Given the description of an element on the screen output the (x, y) to click on. 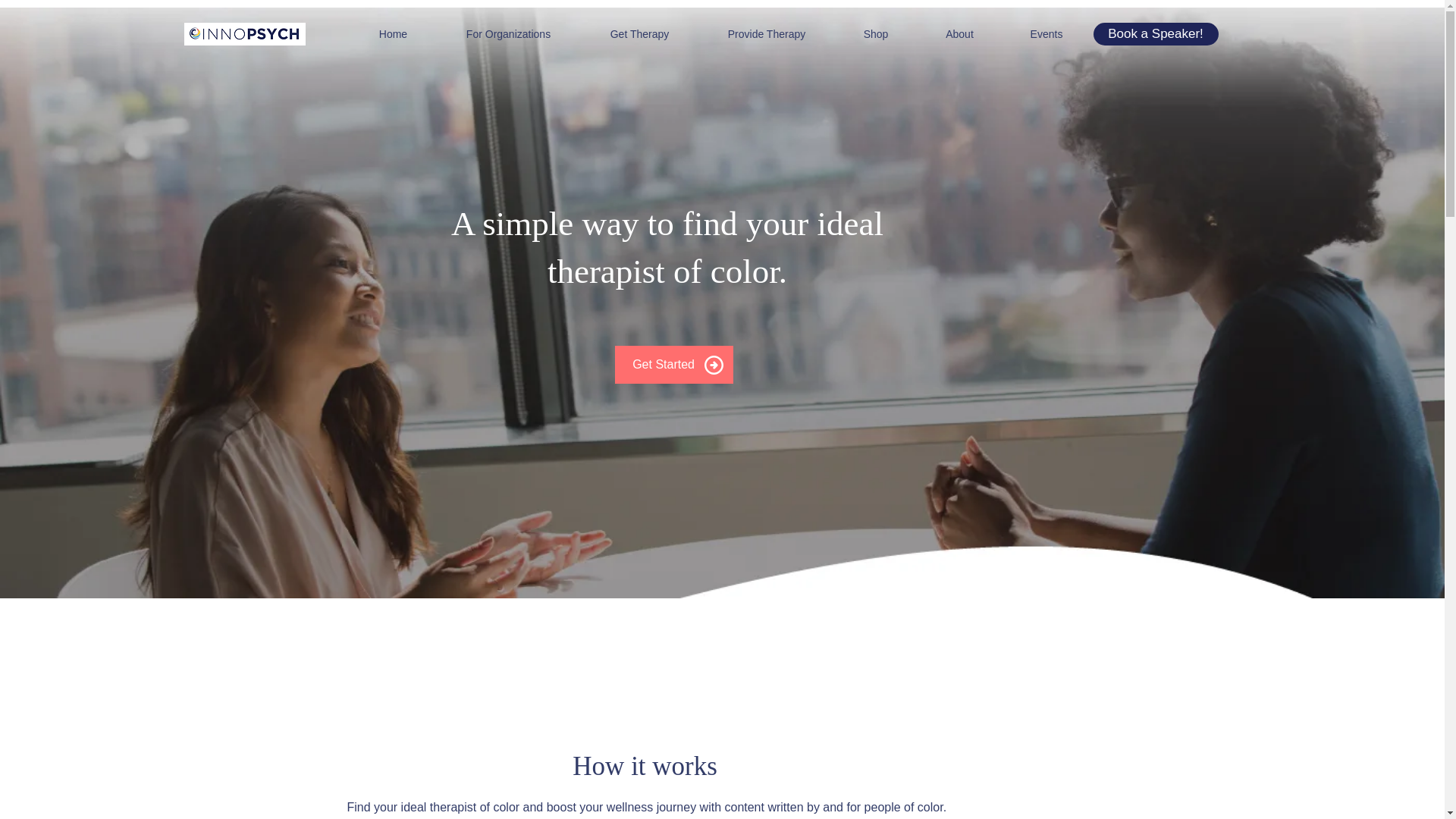
About (959, 34)
Provide Therapy (765, 34)
Home (392, 34)
Get Started (657, 364)
Shop (876, 34)
For Organizations (507, 34)
Book a Speaker! (1155, 33)
Get Therapy (638, 34)
Events (1046, 34)
